Given the description of an element on the screen output the (x, y) to click on. 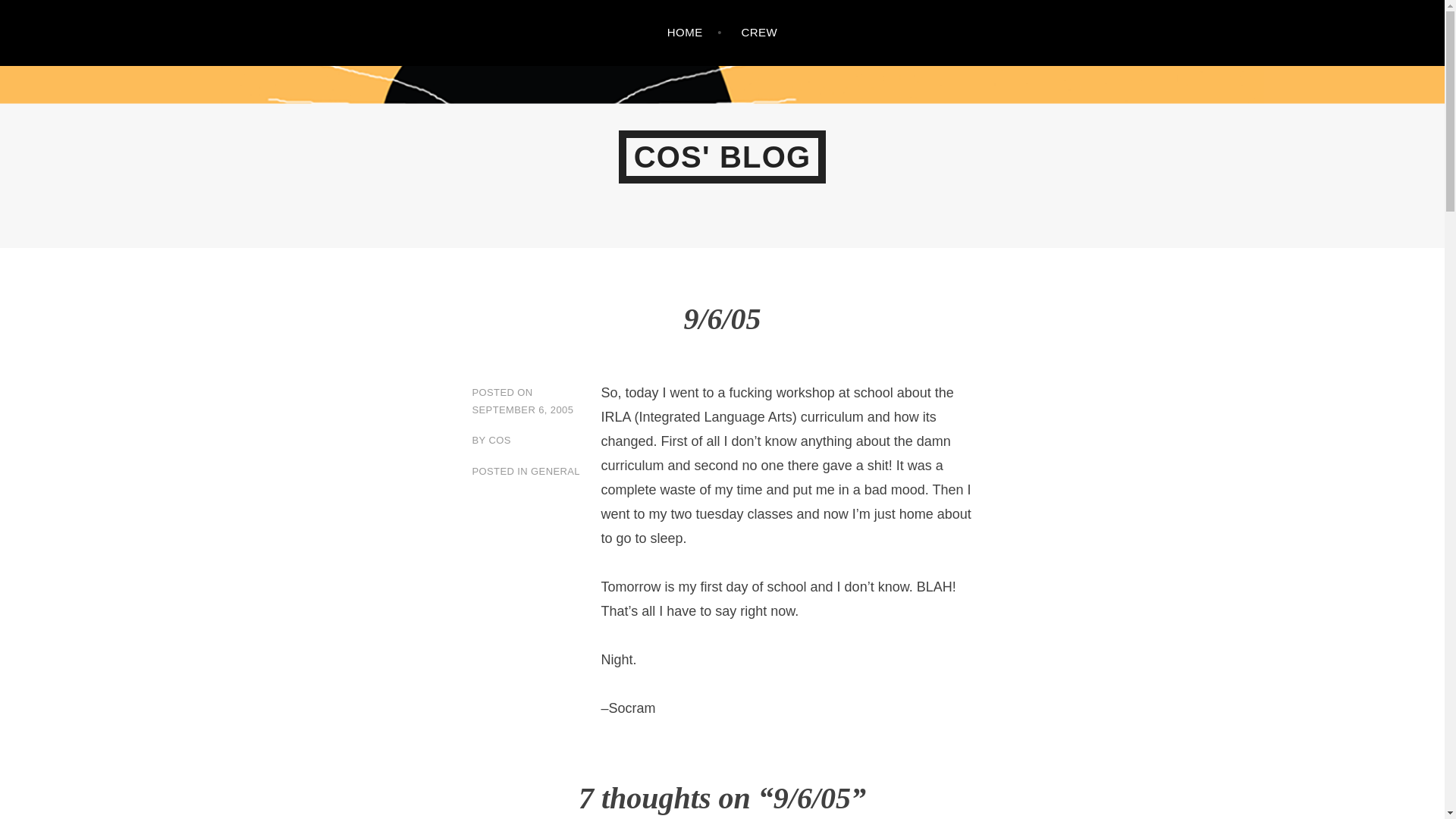
Search (42, 15)
HOME (694, 32)
COS' BLOG (722, 156)
COS (499, 439)
SEPTEMBER 6, 2005 (522, 409)
GENERAL (555, 471)
